Given the description of an element on the screen output the (x, y) to click on. 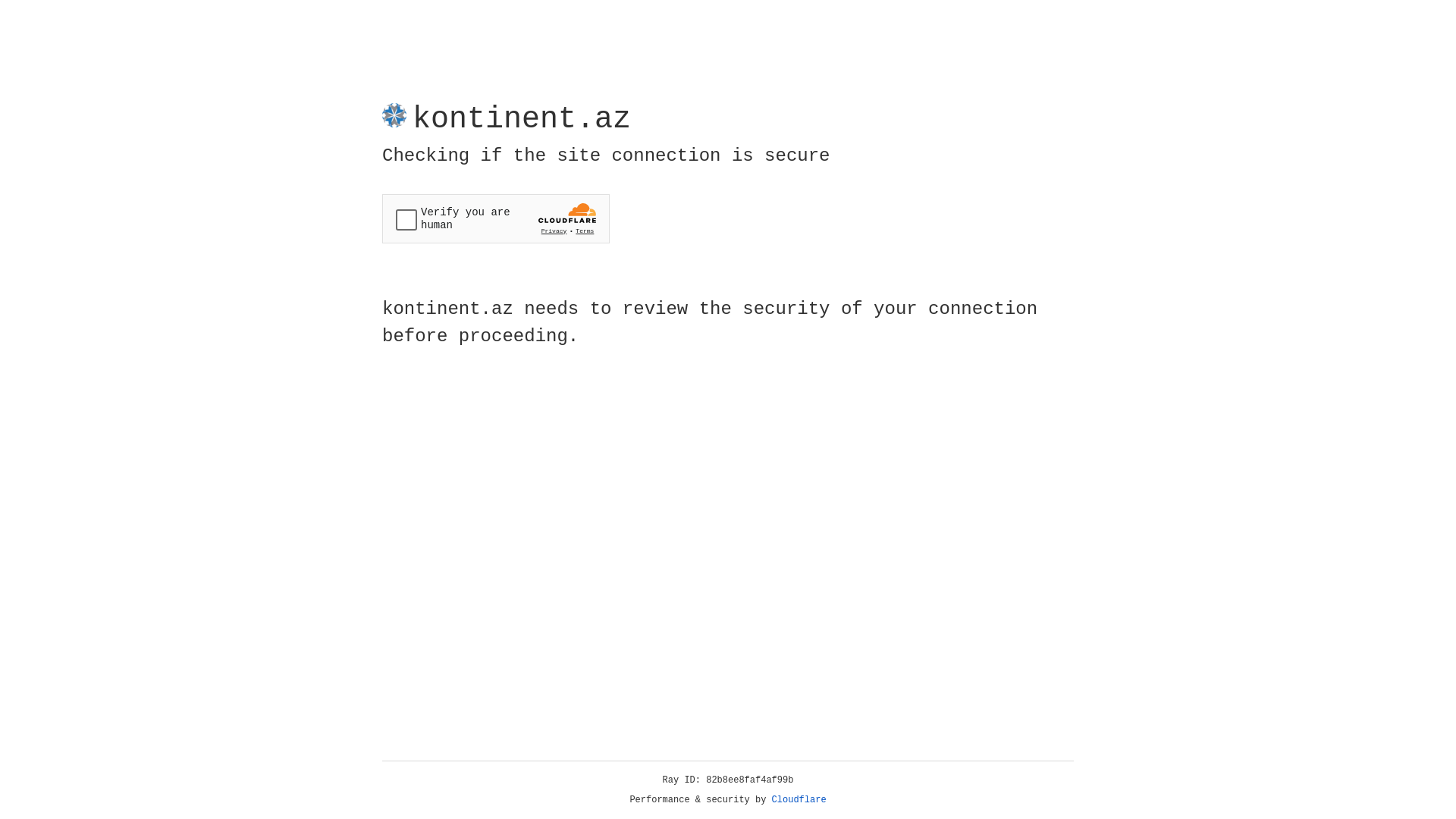
Widget containing a Cloudflare security challenge Element type: hover (495, 218)
Cloudflare Element type: text (798, 799)
